Given the description of an element on the screen output the (x, y) to click on. 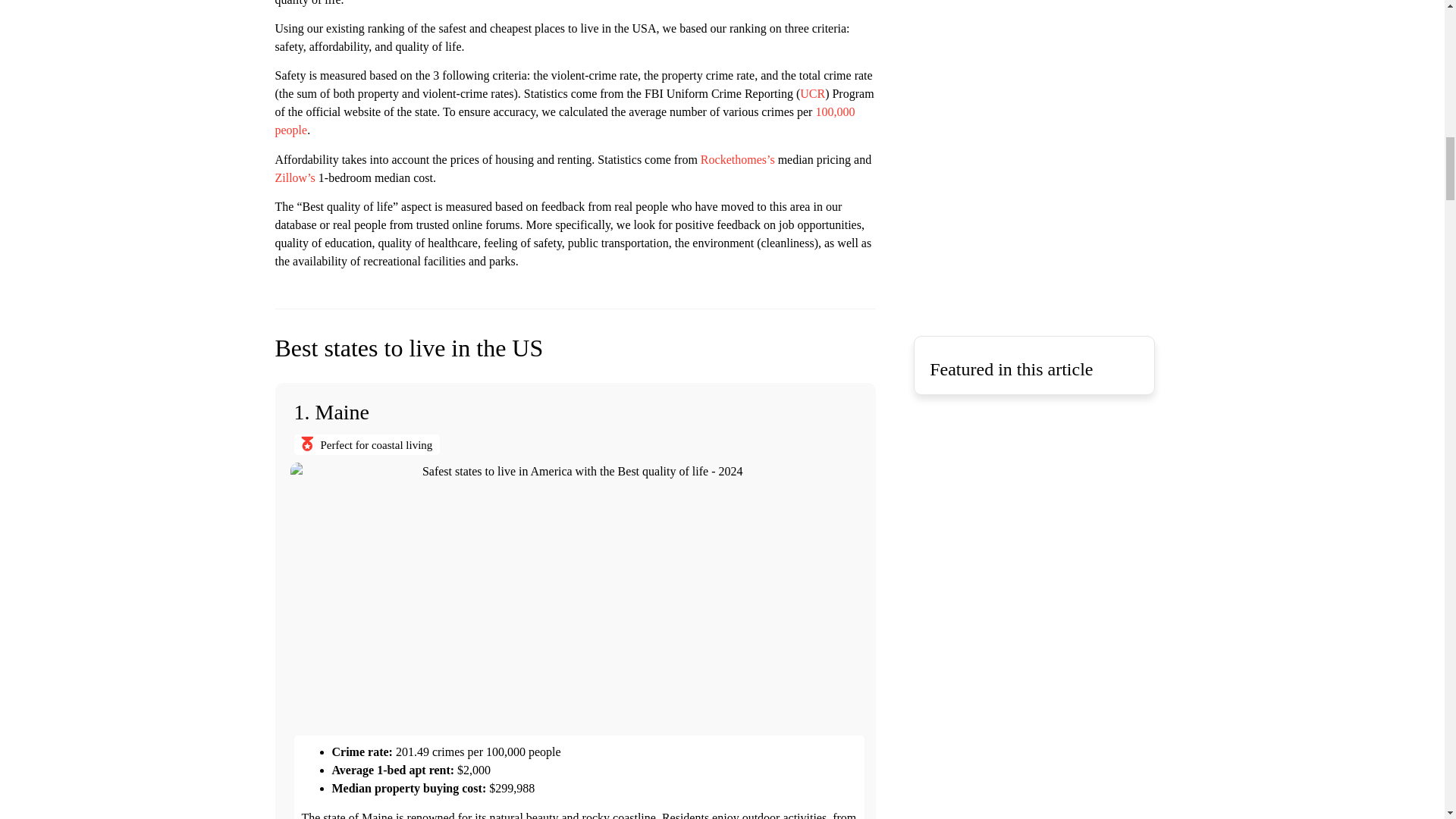
UCR (812, 92)
100,000 people (564, 120)
